Given the description of an element on the screen output the (x, y) to click on. 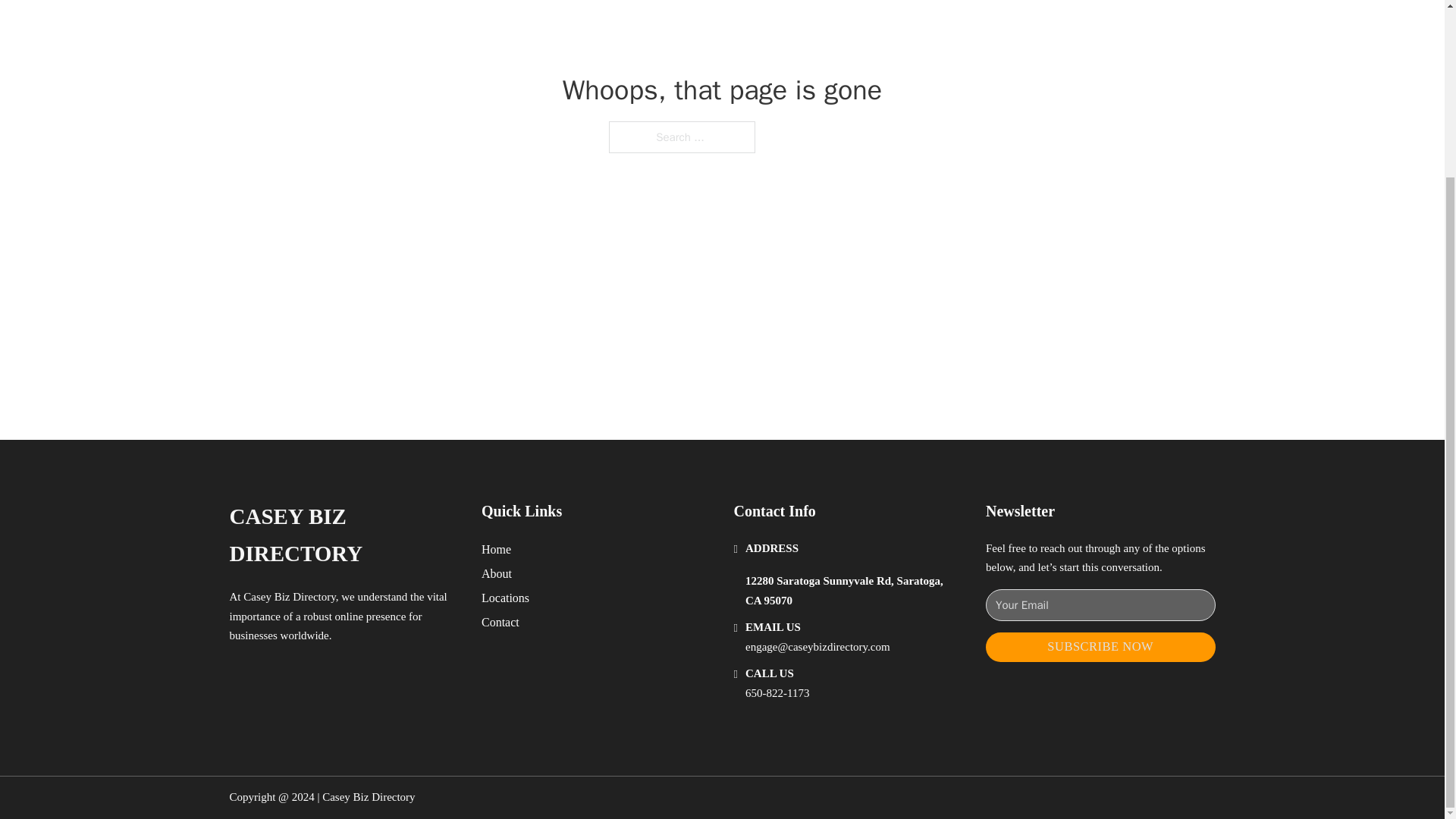
Locations (505, 598)
650-822-1173 (777, 693)
Home (496, 548)
Contact (500, 621)
SUBSCRIBE NOW (1100, 646)
CASEY BIZ DIRECTORY (343, 535)
About (496, 573)
